Given the description of an element on the screen output the (x, y) to click on. 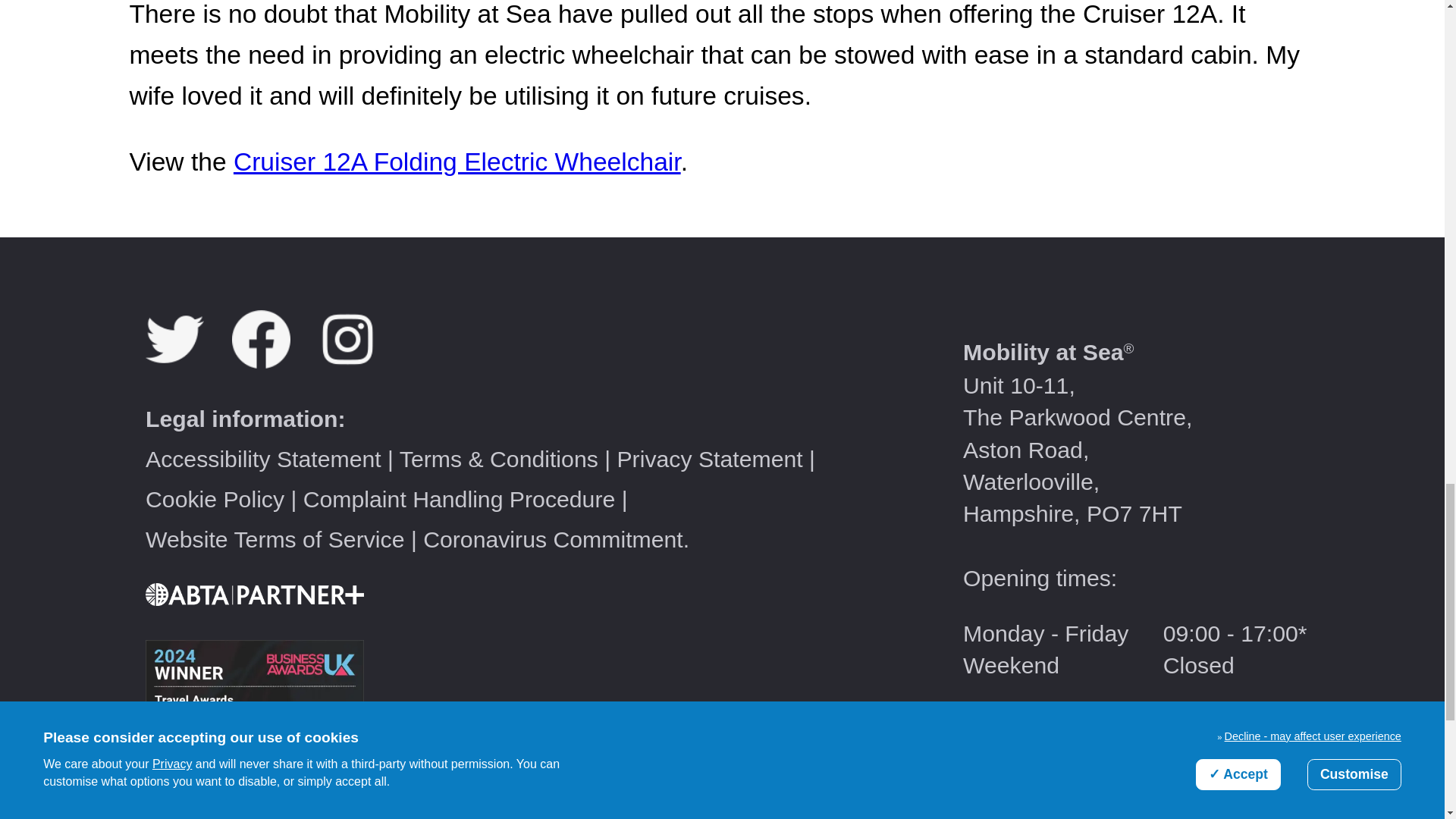
Cookie Policy (214, 498)
Accessibility Statement (263, 458)
Mobility at Sea on Twitter (188, 360)
Privacy statement the Mobility at Sea website (708, 458)
Coronavirus Commitment (552, 539)
Mobility at Sea on Instagram (358, 360)
Terms and conditions of equipment hire (498, 458)
Privacy Statement (708, 458)
Mobility at Sea on Facebook (274, 360)
Cruiser 12A Folding Electric Wheelchair (456, 162)
